Given the description of an element on the screen output the (x, y) to click on. 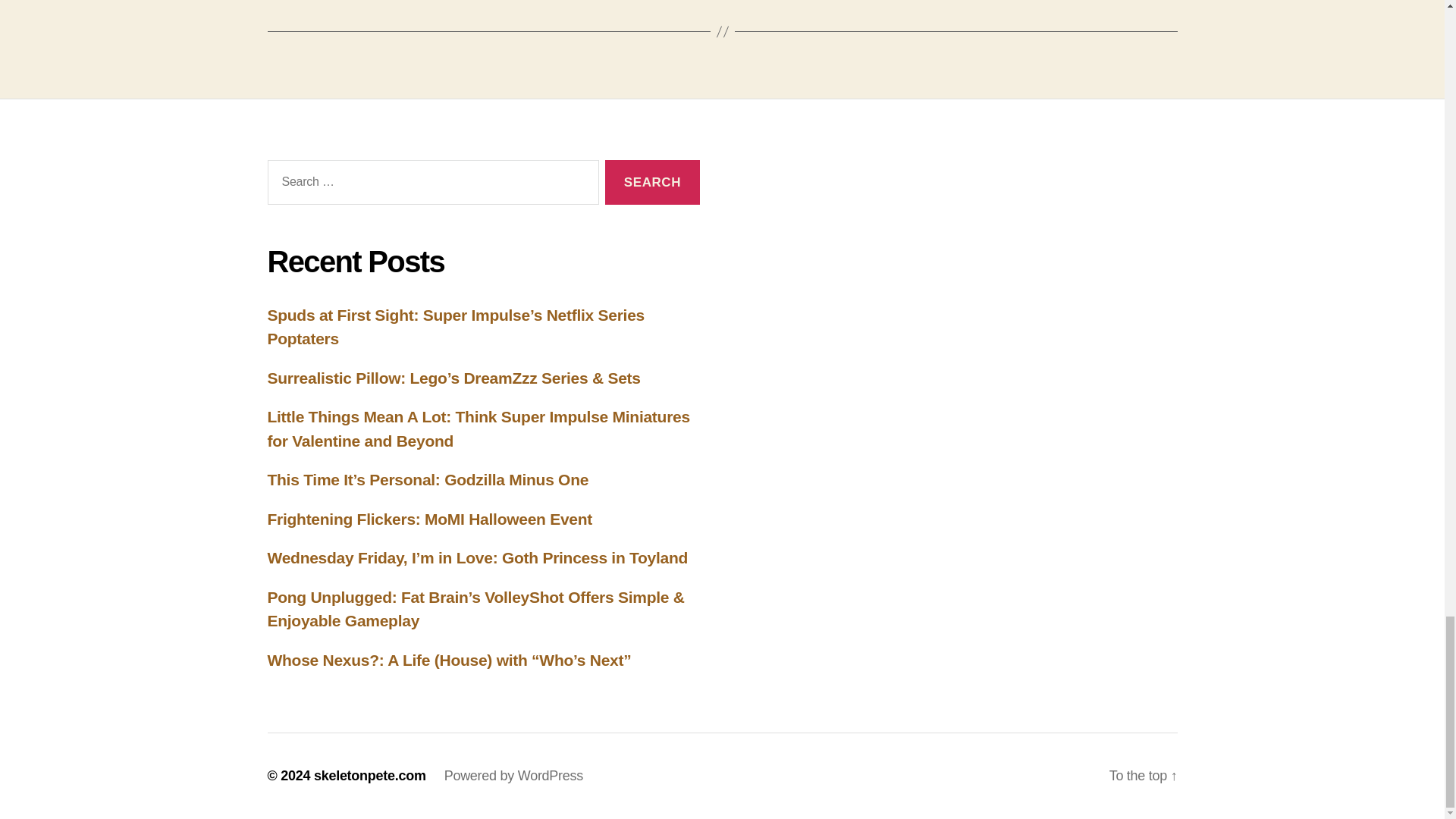
skeletonpete.com (370, 775)
Search (651, 181)
Search (651, 181)
Search (651, 181)
Frightening Flickers: MoMI Halloween Event (429, 518)
